Given the description of an element on the screen output the (x, y) to click on. 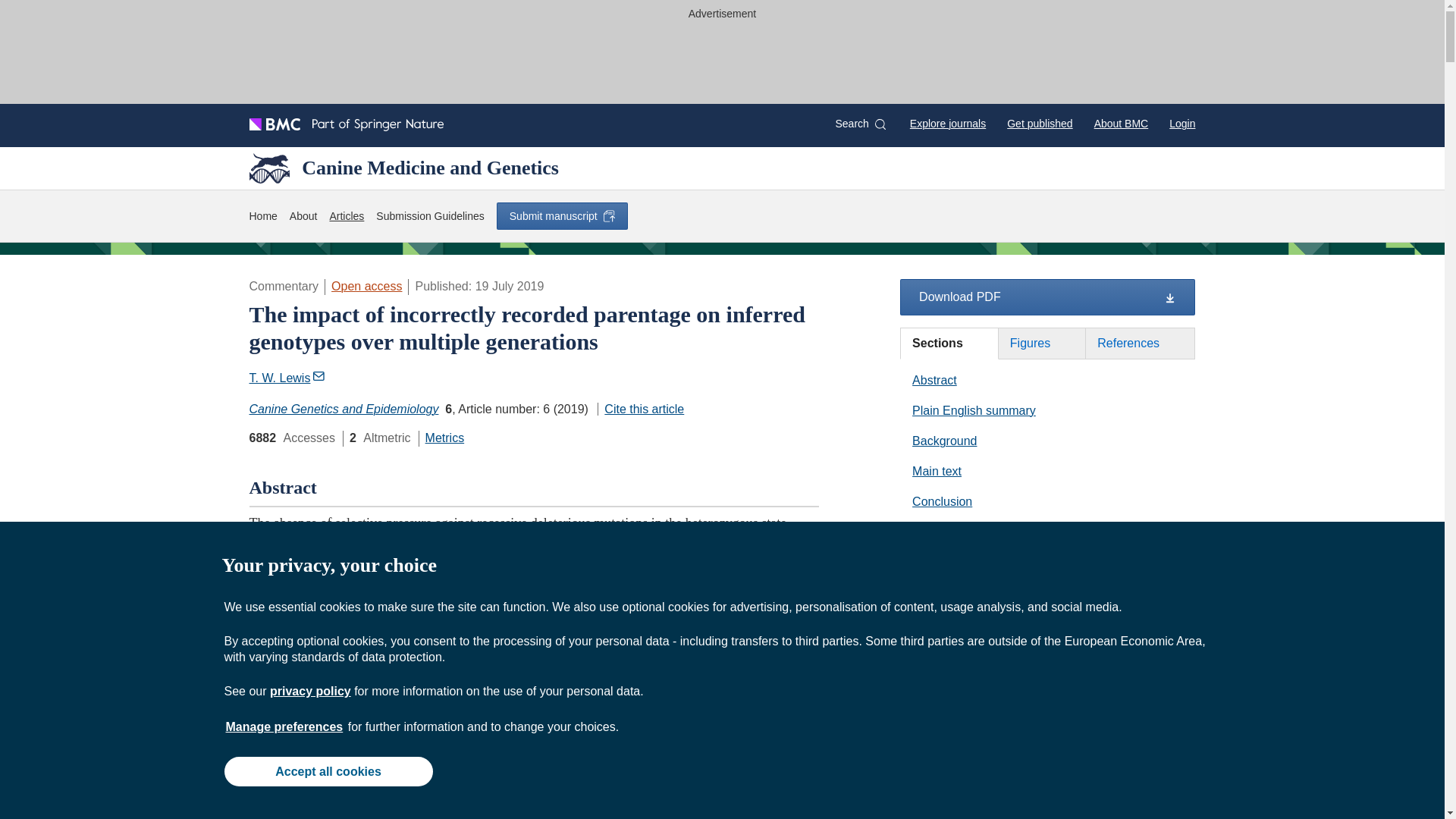
T. W. Lewis (286, 377)
3rd party ad content (721, 59)
privacy policy (309, 690)
Metrics (444, 437)
Home (262, 216)
Canine Medicine and Genetics (402, 168)
Accept all cookies (328, 771)
Canine Genetics and Epidemiology (343, 408)
Articles (346, 216)
Open access (366, 286)
